Given the description of an element on the screen output the (x, y) to click on. 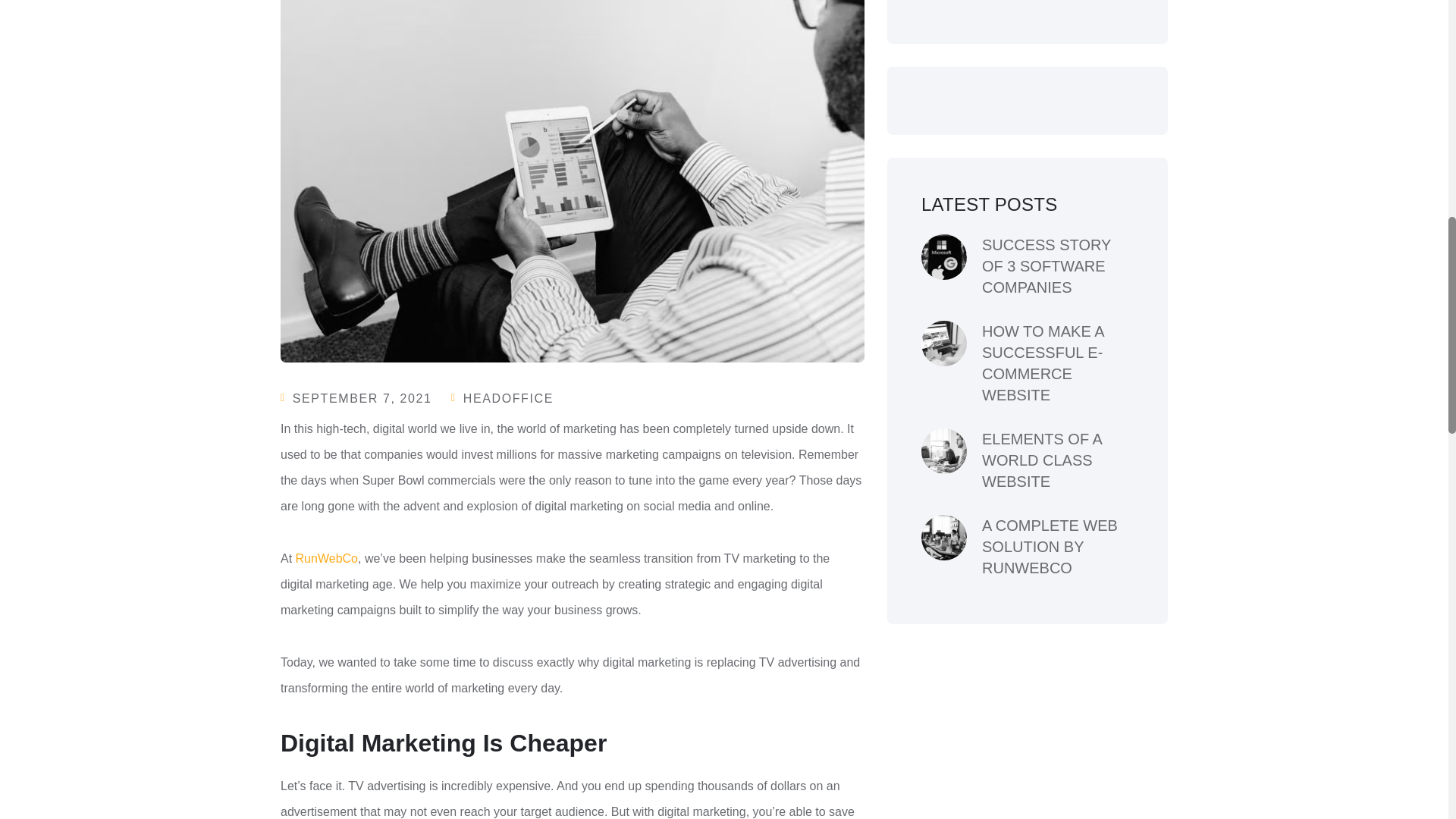
SEPTEMBER 7, 2021 (362, 398)
RunWebCo (326, 558)
HEADOFFICE (508, 398)
